Given the description of an element on the screen output the (x, y) to click on. 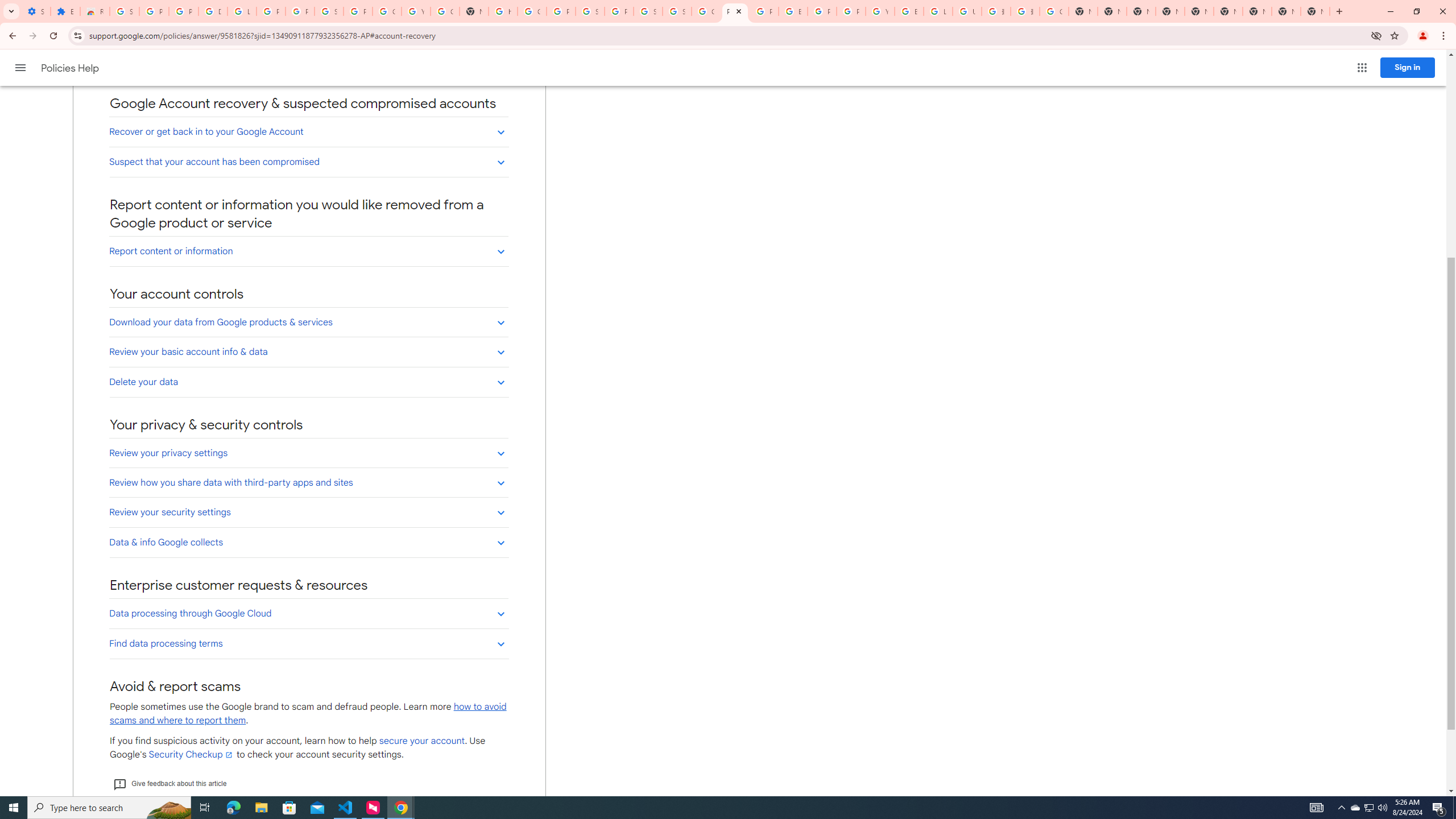
Sign in - Google Accounts (648, 11)
Data & info Google collects (308, 542)
Suspect that your account has been compromised (308, 161)
Review how you share data with third-party apps and sites (308, 482)
Address and search bar (726, 35)
Google Account (386, 11)
Data processing through Google Cloud (308, 613)
Learn how to find your photos - Google Photos Help (242, 11)
Download your data from Google products & services (308, 322)
Browse Chrome as a guest - Computer - Google Chrome Help (908, 11)
help center and support forums (211, 69)
